Given the description of an element on the screen output the (x, y) to click on. 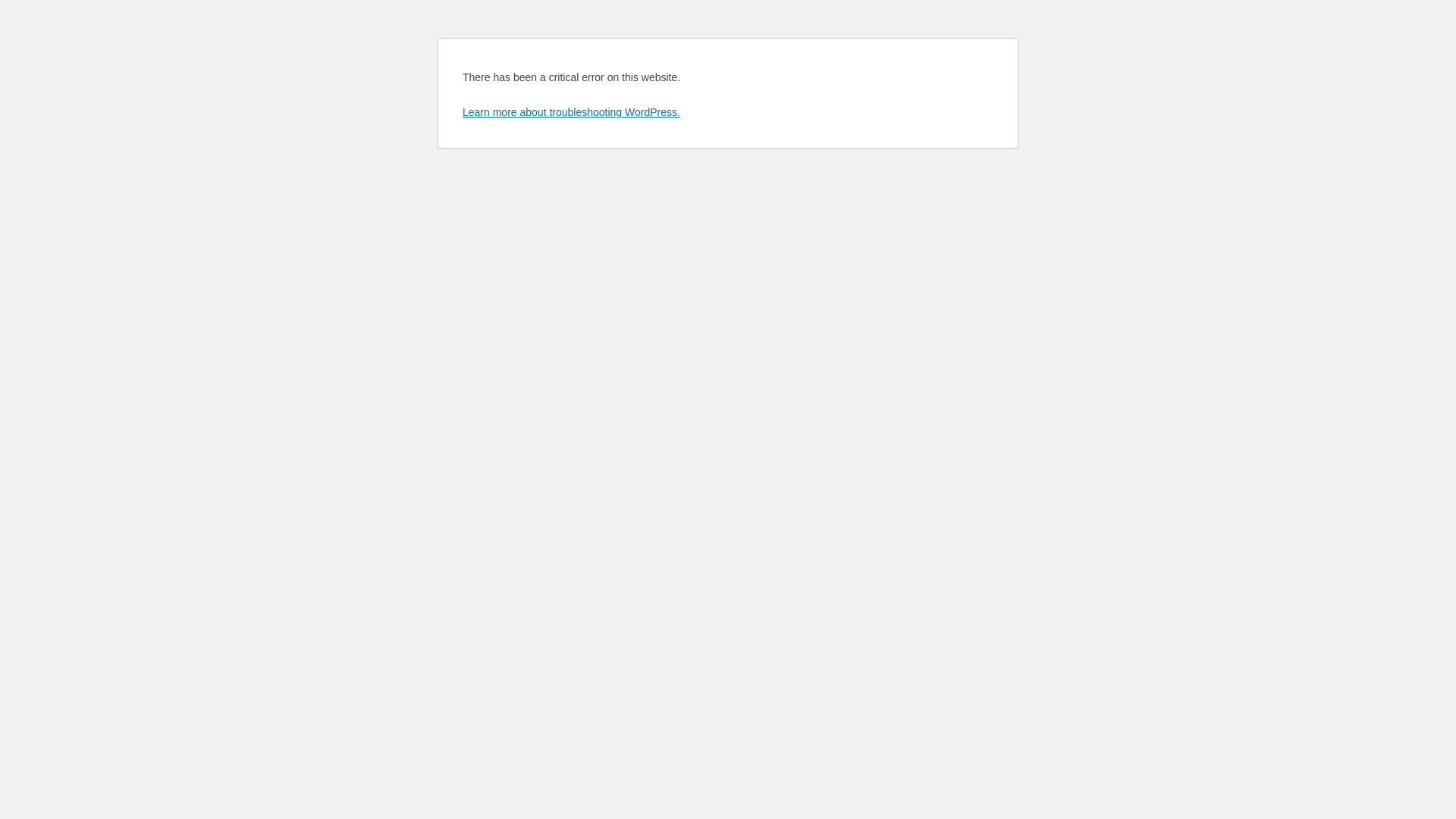
Learn more about troubleshooting WordPress. Element type: text (571, 112)
